Given the description of an element on the screen output the (x, y) to click on. 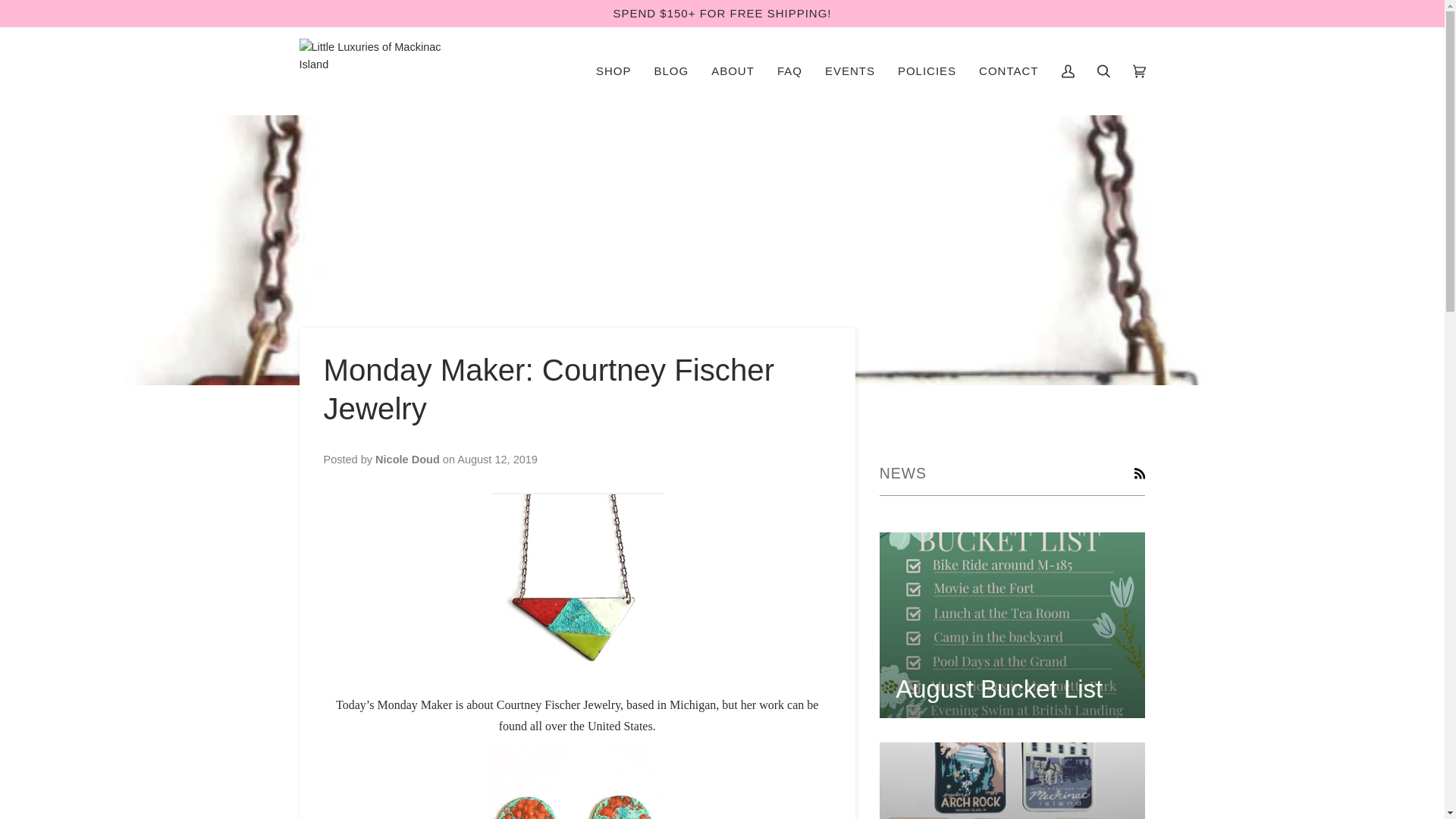
POLICIES (927, 71)
CONTACT (1008, 71)
